Given the description of an element on the screen output the (x, y) to click on. 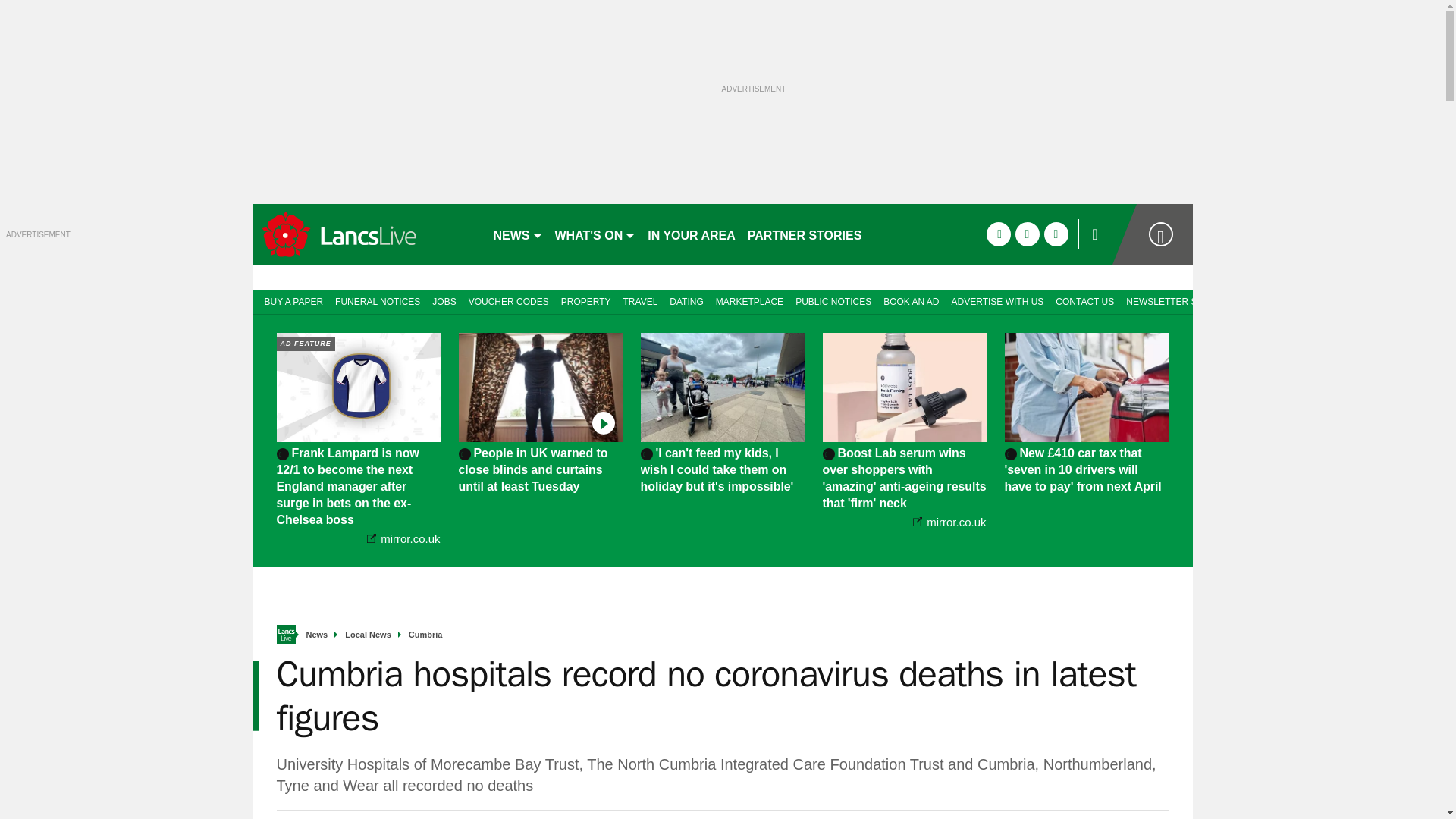
PUBLIC NOTICES (833, 300)
PARTNER STORIES (804, 233)
PROPERTY (585, 300)
DATING (686, 300)
MARKETPLACE (749, 300)
BOOK AN AD (910, 300)
FUNERAL NOTICES (377, 300)
ADVERTISE WITH US (996, 300)
WHAT'S ON (595, 233)
instagram (1055, 233)
IN YOUR AREA (691, 233)
facebook (997, 233)
VOUCHER CODES (508, 300)
BUY A PAPER (290, 300)
